Given the description of an element on the screen output the (x, y) to click on. 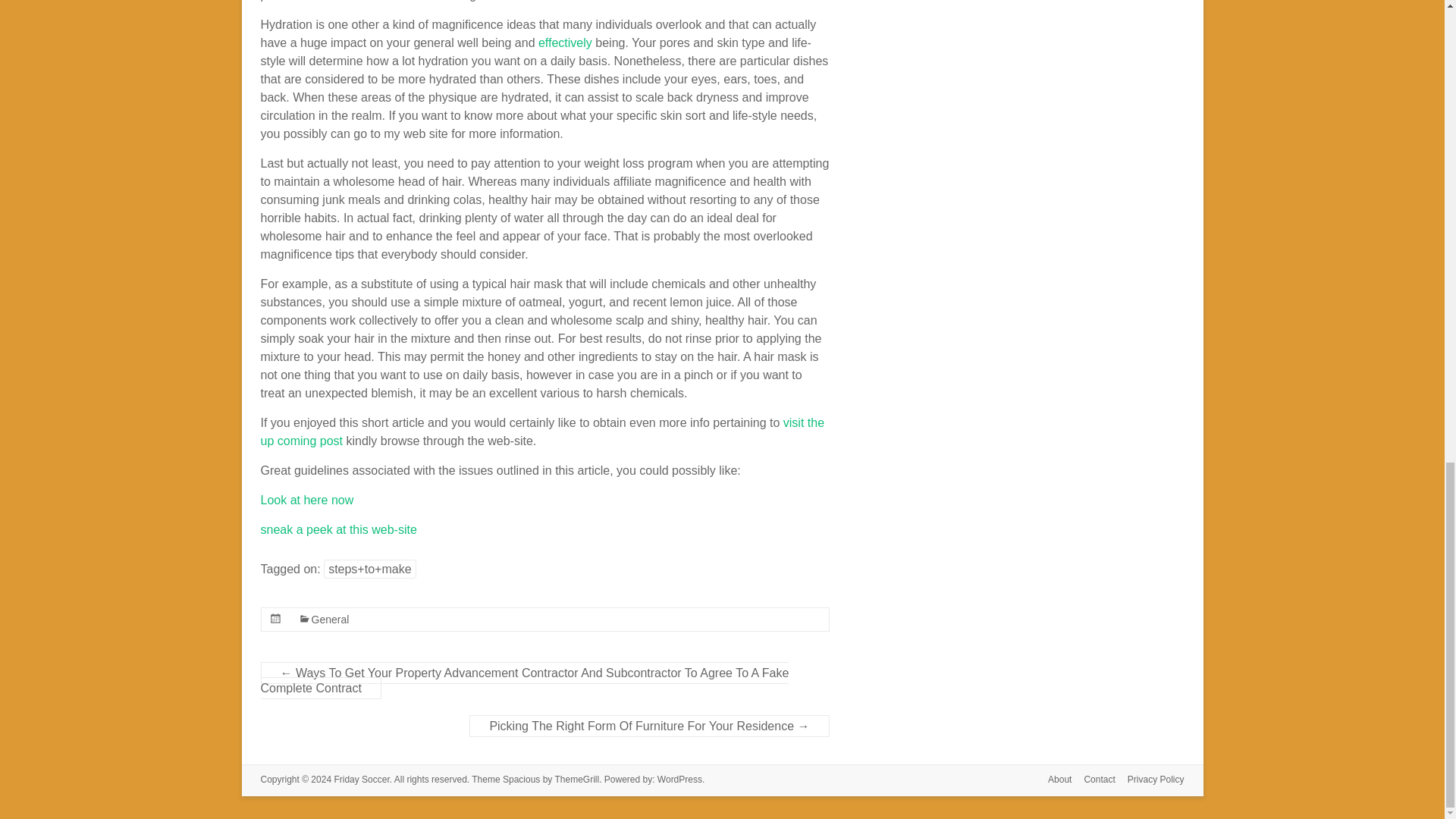
About (1053, 780)
Privacy Policy (1150, 780)
Friday Soccer (360, 778)
Friday Soccer (360, 778)
Spacious (521, 778)
Spacious (521, 778)
visit the up coming post (542, 431)
WordPress (679, 778)
sneak a peek at this web-site (338, 529)
Contact (1093, 780)
